Given the description of an element on the screen output the (x, y) to click on. 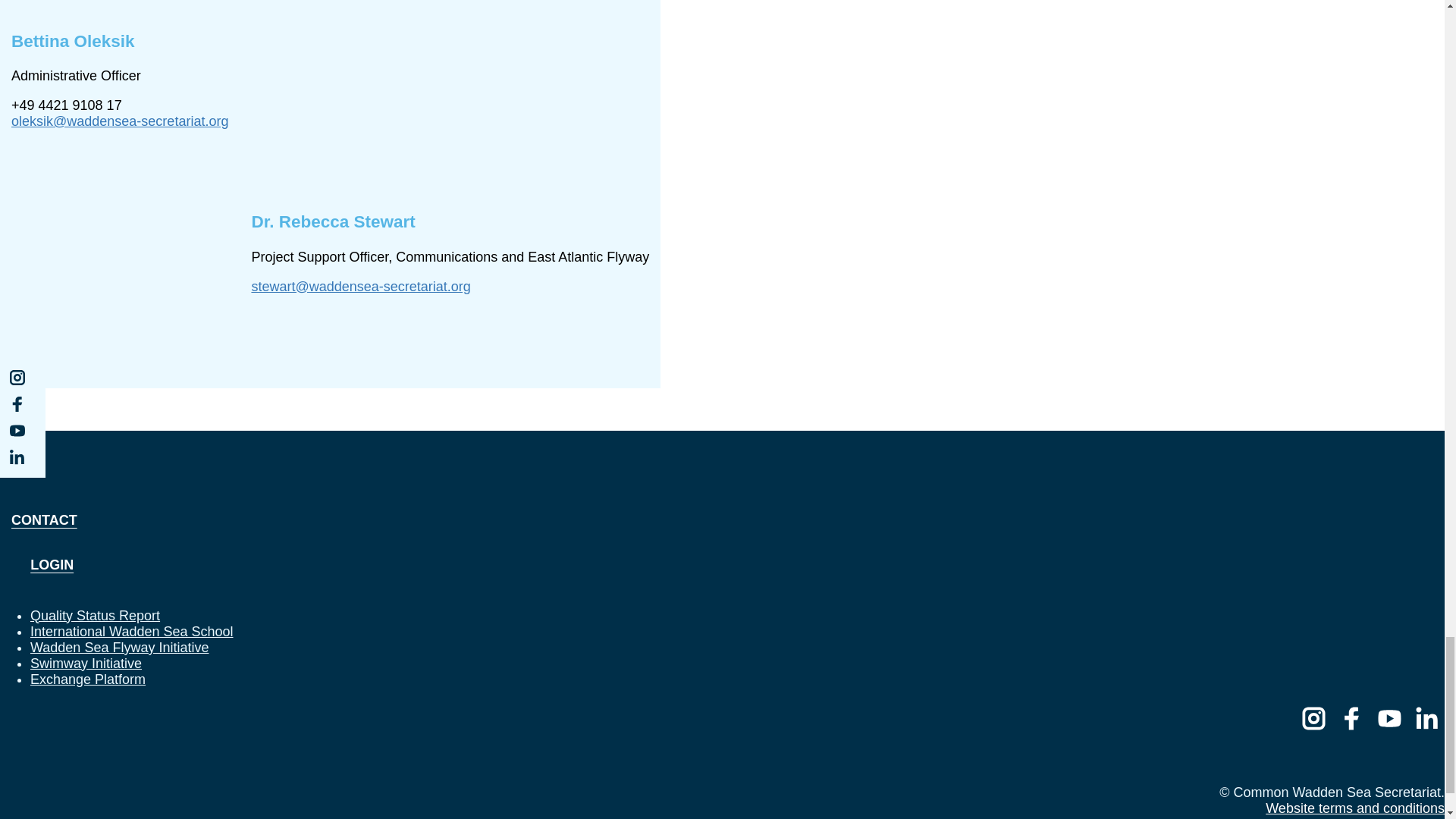
Rebecca Stewart. Private. (450, 100)
Link to the International Wadden Sea School website (131, 631)
Link to the Swimway Initiative website (85, 663)
Link to the online Wadden Sea Quality Status Report (95, 615)
Link to the Wadden Sea Flyway Initiative website (119, 647)
